Given the description of an element on the screen output the (x, y) to click on. 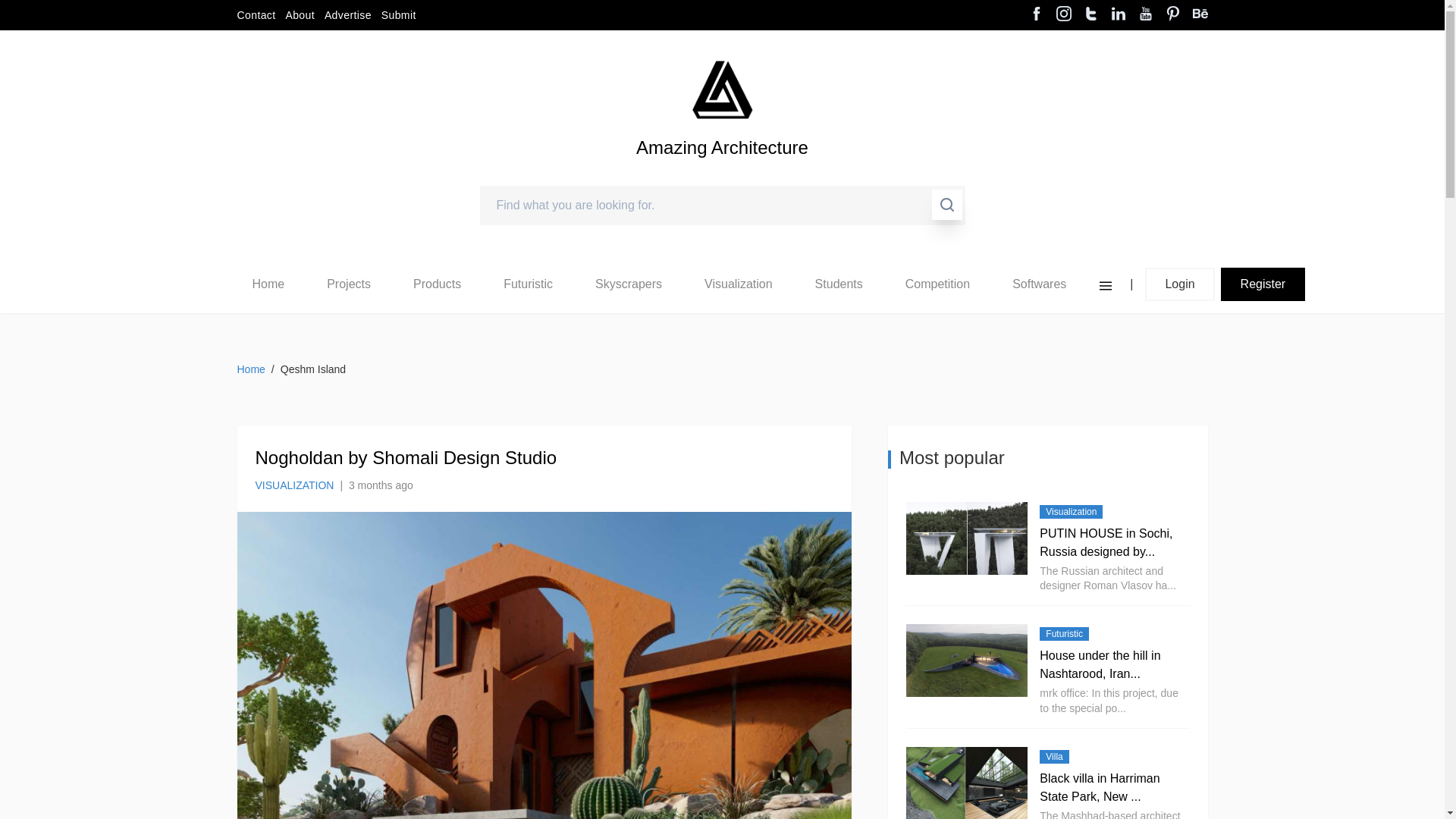
Advertise (347, 15)
Futuristic (528, 283)
Advertisement page (347, 15)
Projects (348, 283)
Home (267, 283)
Amazing Architecture (722, 173)
Home (267, 283)
Amazing Architecture (722, 173)
Products (437, 283)
Projects (348, 284)
Submit page (398, 15)
About (299, 15)
Skyscrapers (628, 283)
Projects (348, 283)
Contact us page (255, 15)
